Given the description of an element on the screen output the (x, y) to click on. 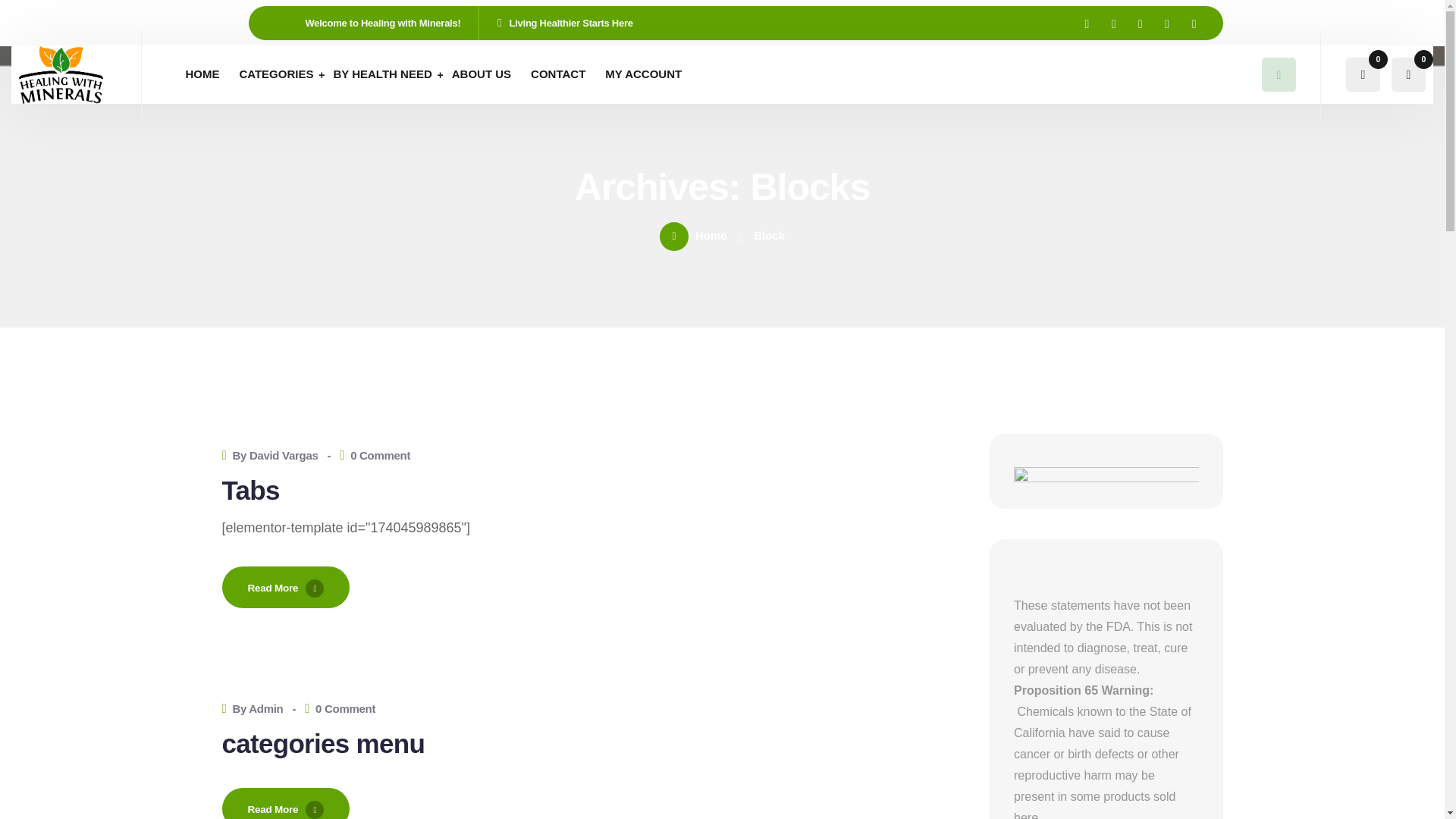
CATEGORIES (275, 73)
HOME (202, 73)
BY HEALTH NEED (381, 73)
